Given the description of an element on the screen output the (x, y) to click on. 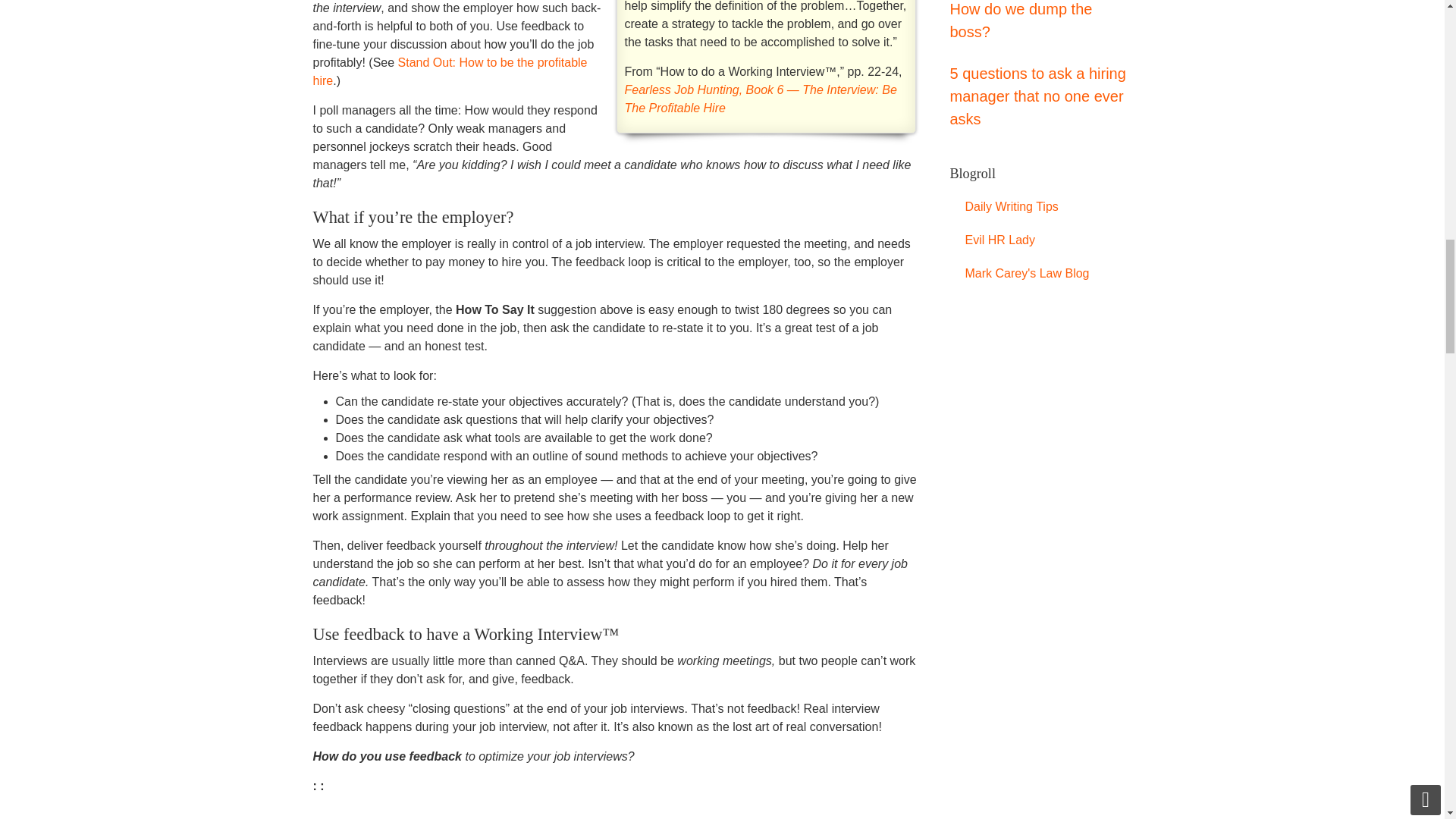
Stand Out: How to be the profitable hire (449, 71)
